Given the description of an element on the screen output the (x, y) to click on. 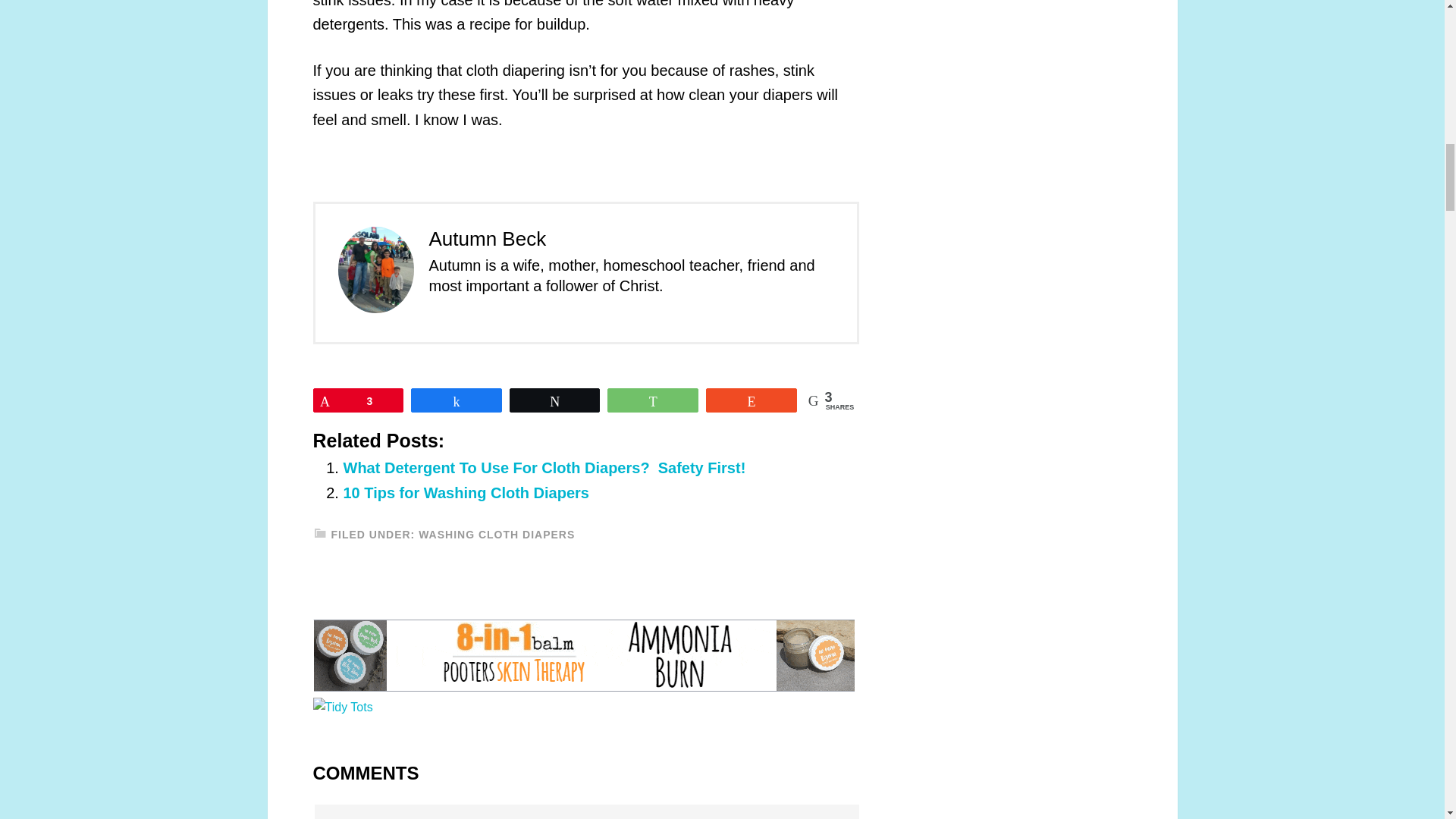
What Detergent To Use For Cloth Diapers?  Safety First!  (545, 467)
3 (358, 400)
WASHING CLOTH DIAPERS (497, 534)
10 Tips for Washing Cloth Diapers (465, 492)
Autumn Beck (488, 238)
10 Tips for Washing Cloth Diapers (465, 492)
